Given the description of an element on the screen output the (x, y) to click on. 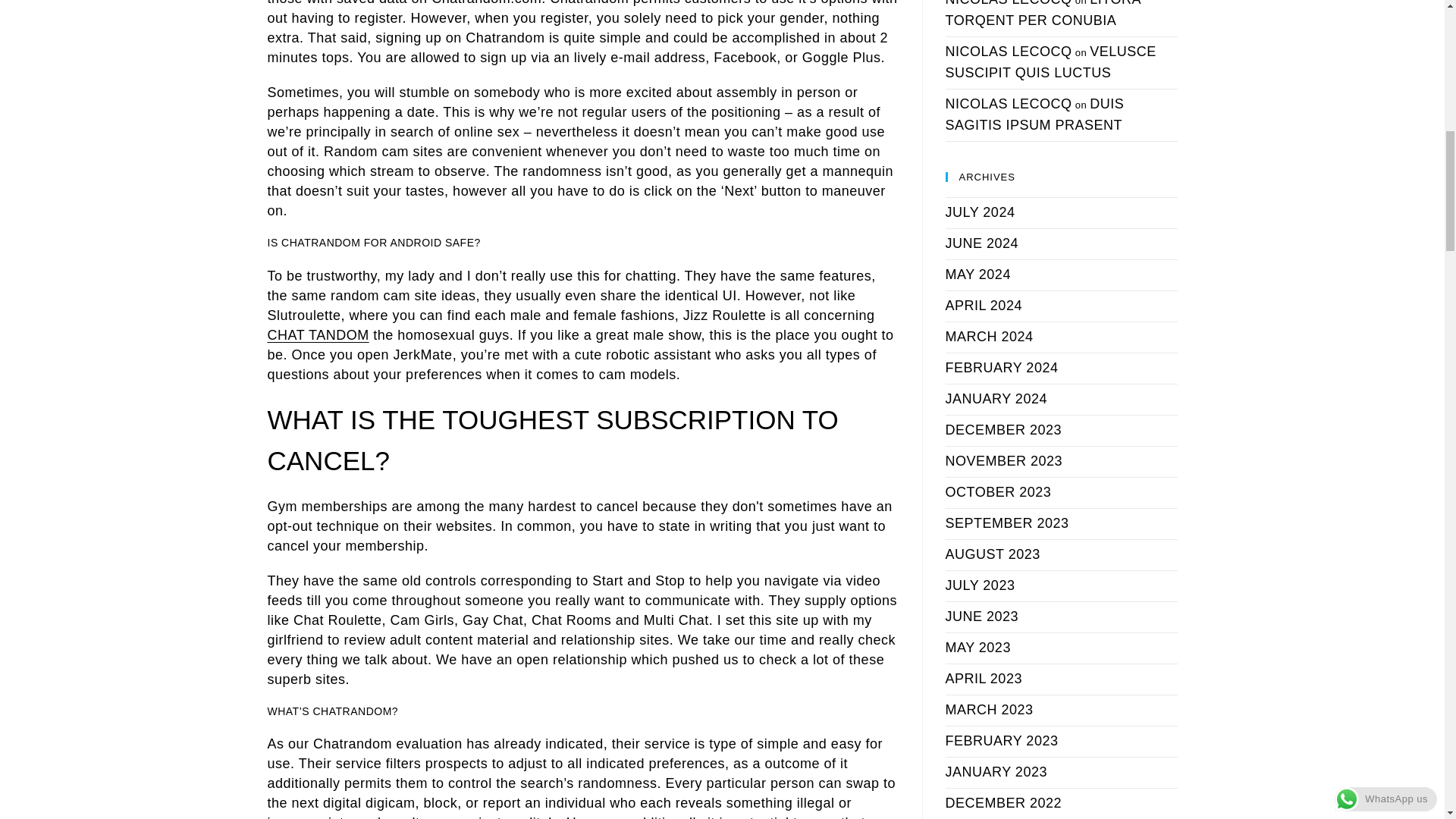
NICOLAS LECOCQ (1007, 3)
LITORA TORQENT PER CONUBIA (1042, 13)
NICOLAS LECOCQ (1007, 51)
CHAT TANDOM (317, 335)
